Given the description of an element on the screen output the (x, y) to click on. 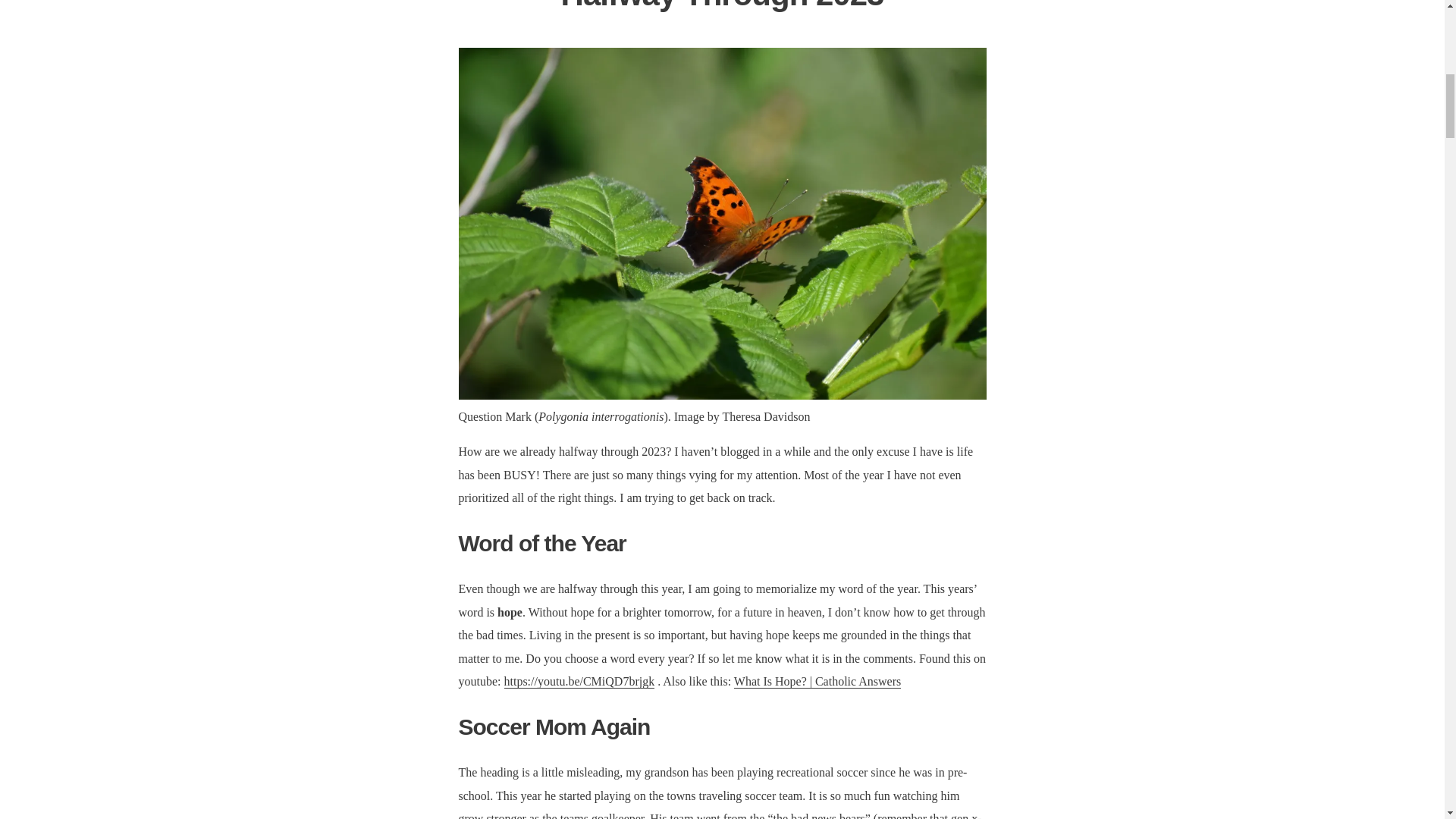
Halfway Through 2023 (721, 6)
